Given the description of an element on the screen output the (x, y) to click on. 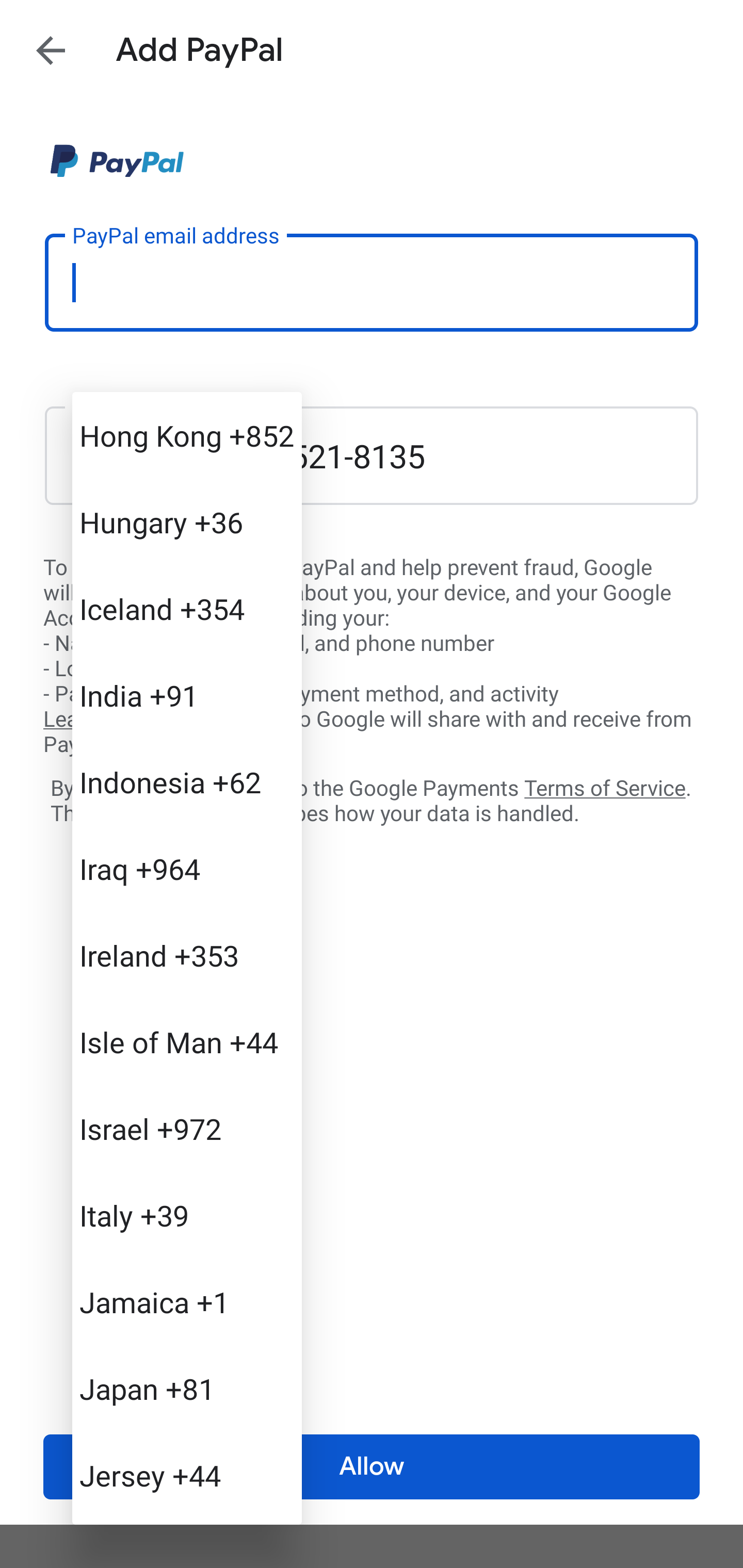
Hong Kong +852 (186, 435)
Hungary +36 (186, 522)
Iceland +354 (186, 609)
India +91 (186, 695)
Indonesia +62 (186, 781)
Iraq +964 (186, 868)
Ireland +353 (186, 955)
Isle of Man +44 (186, 1041)
Israel +972 (186, 1128)
Italy +39 (186, 1215)
Jamaica +1 (186, 1302)
Japan +81 (186, 1388)
Jersey +44 (186, 1474)
